Given the description of an element on the screen output the (x, y) to click on. 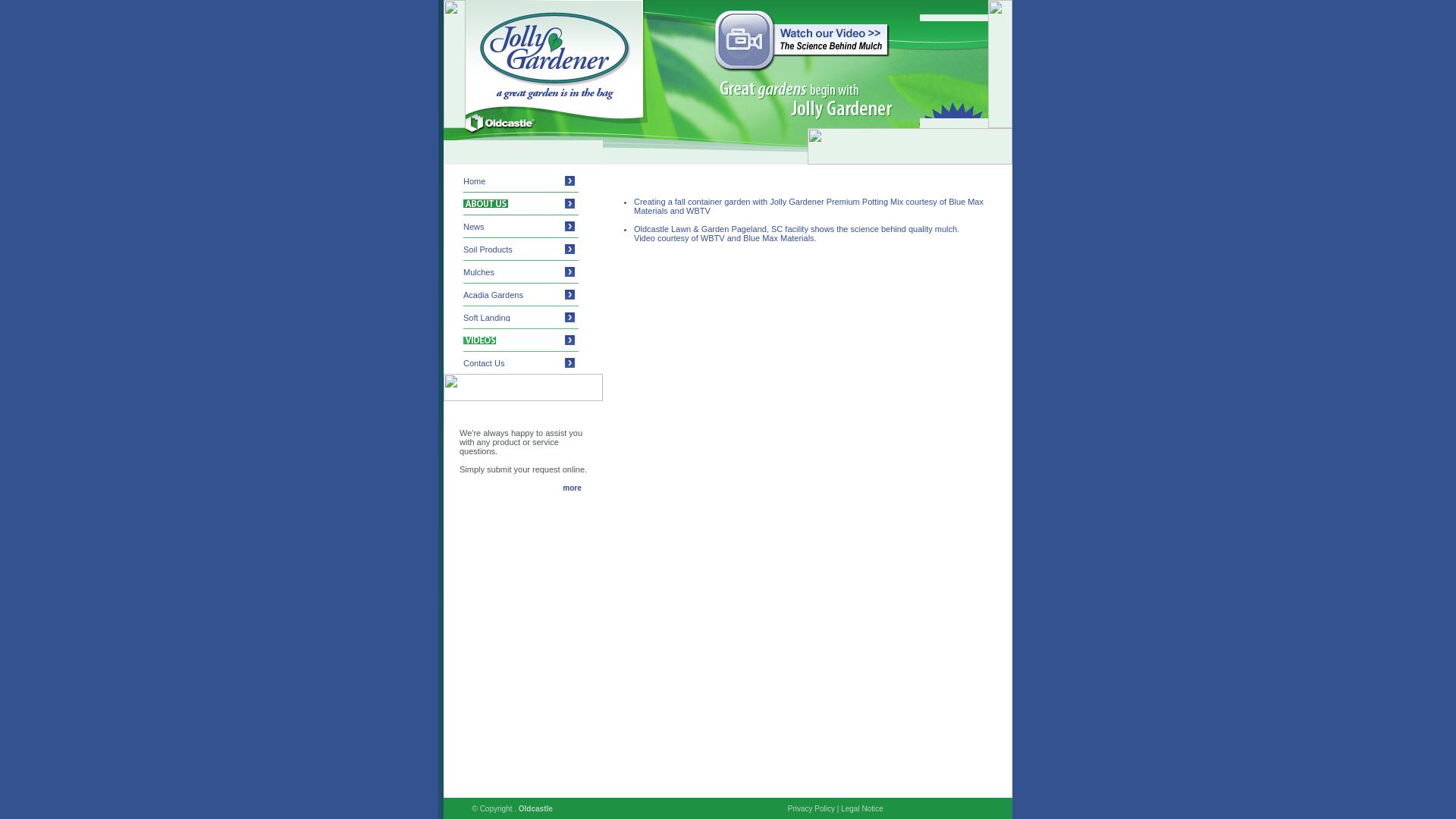
Privacy Policy (810, 807)
Legal Notice (862, 807)
more (571, 488)
